Given the description of an element on the screen output the (x, y) to click on. 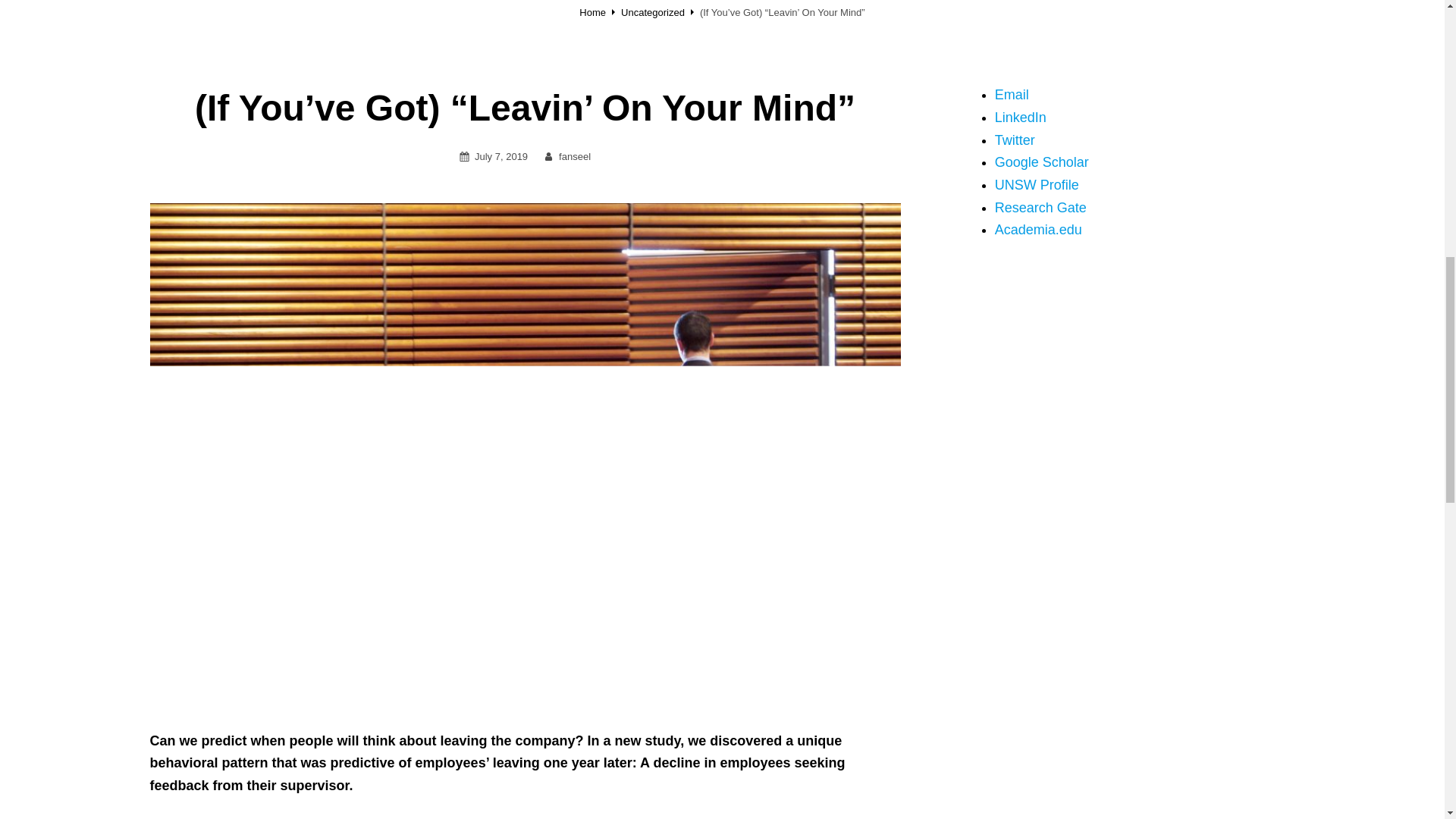
Home (592, 12)
Uncategorized (652, 12)
Google Scholar (1041, 161)
Email (1011, 94)
Research Gate (1040, 207)
UNSW Profile (1036, 184)
Academia.edu (1037, 229)
fanseel (575, 156)
Twitter (1014, 140)
LinkedIn (1020, 117)
